Given the description of an element on the screen output the (x, y) to click on. 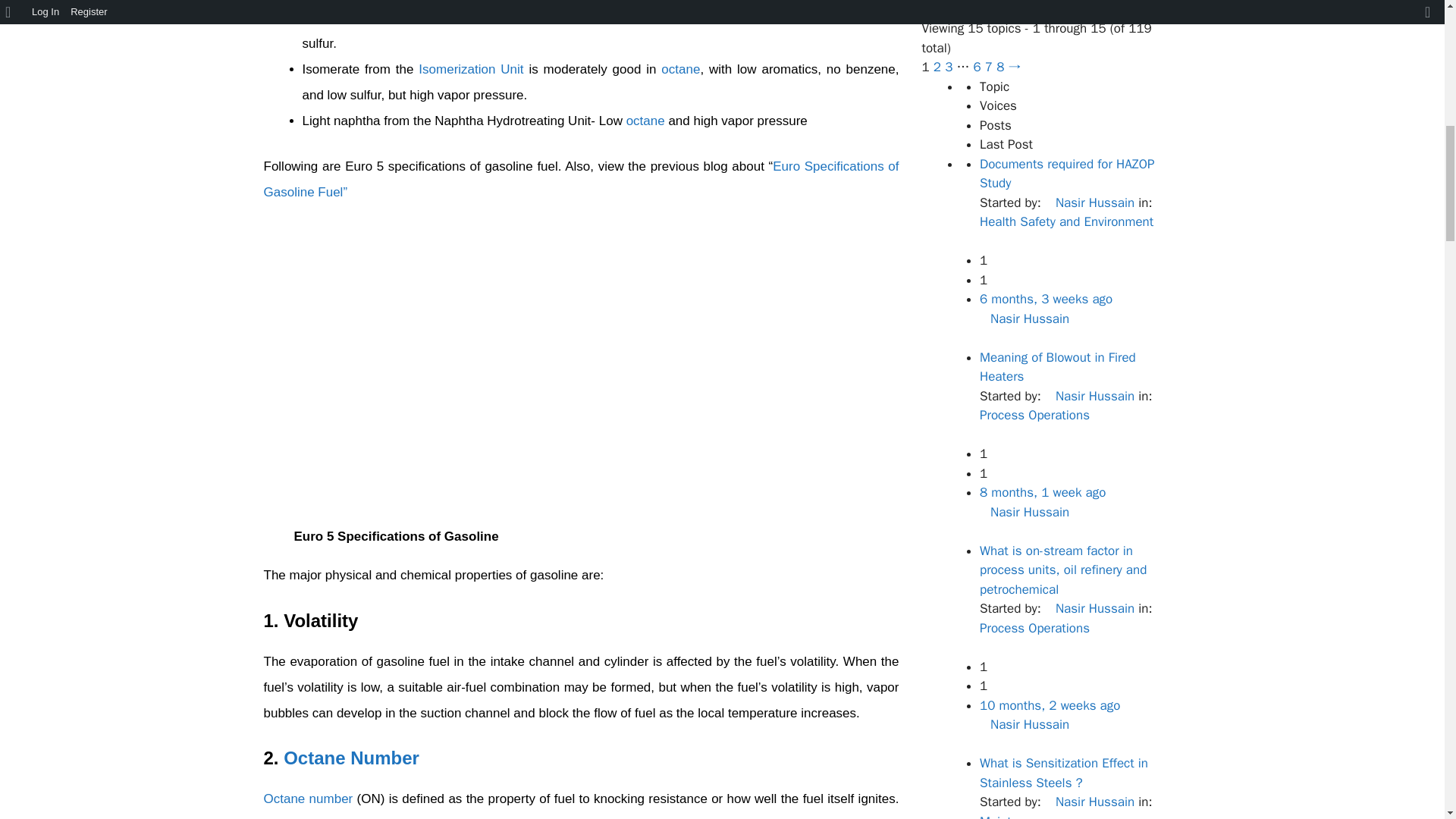
View Nasir Hussain's profile (1023, 724)
Meaning of Blowout in Fired Heaters (1042, 492)
View Nasir Hussain's profile (1089, 201)
Documents required for HAZOP Study (1045, 299)
View Nasir Hussain's profile (1023, 511)
View Nasir Hussain's profile (1023, 318)
View Nasir Hussain's profile (1089, 396)
View Nasir Hussain's profile (1089, 608)
